Given the description of an element on the screen output the (x, y) to click on. 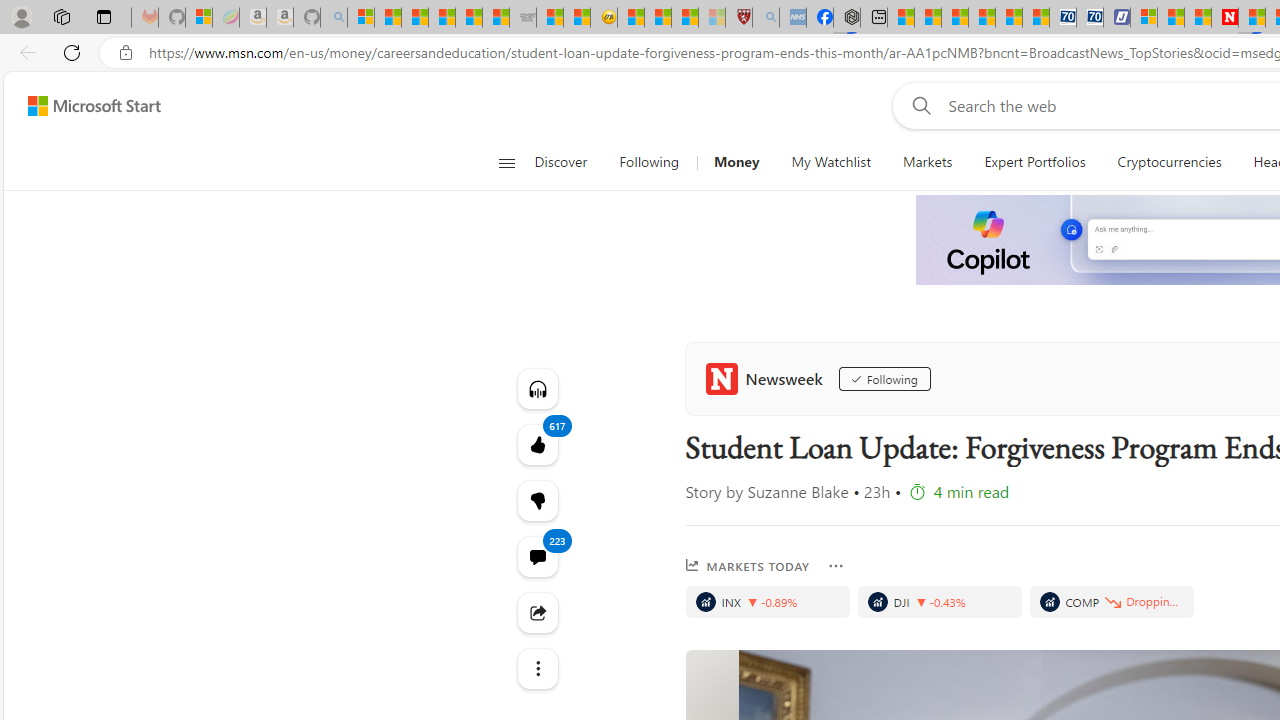
617 Like (537, 444)
My Watchlist (830, 162)
